Given the description of an element on the screen output the (x, y) to click on. 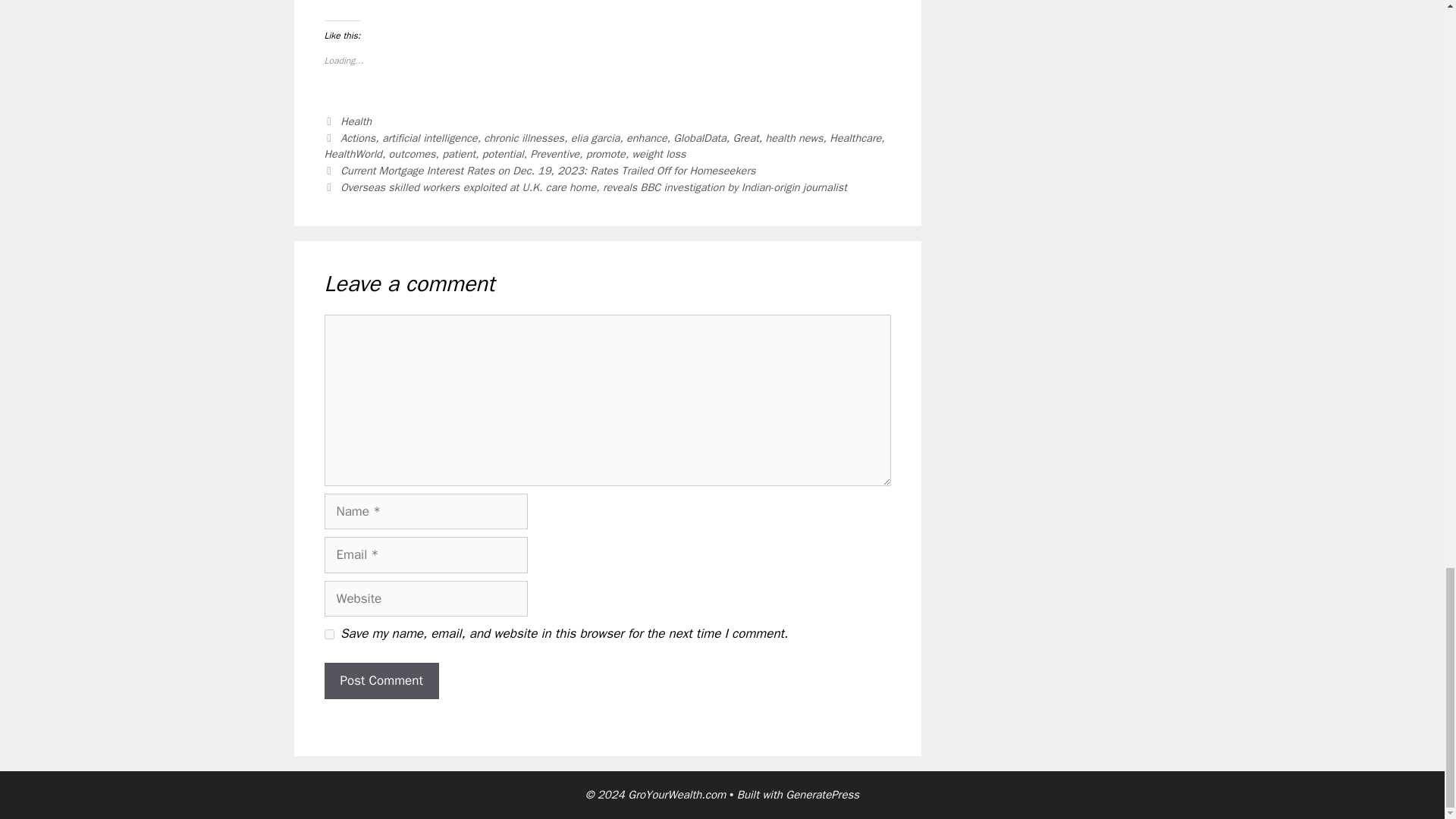
Health (355, 120)
Post Comment (381, 680)
Actions (357, 137)
yes (329, 634)
